Given the description of an element on the screen output the (x, y) to click on. 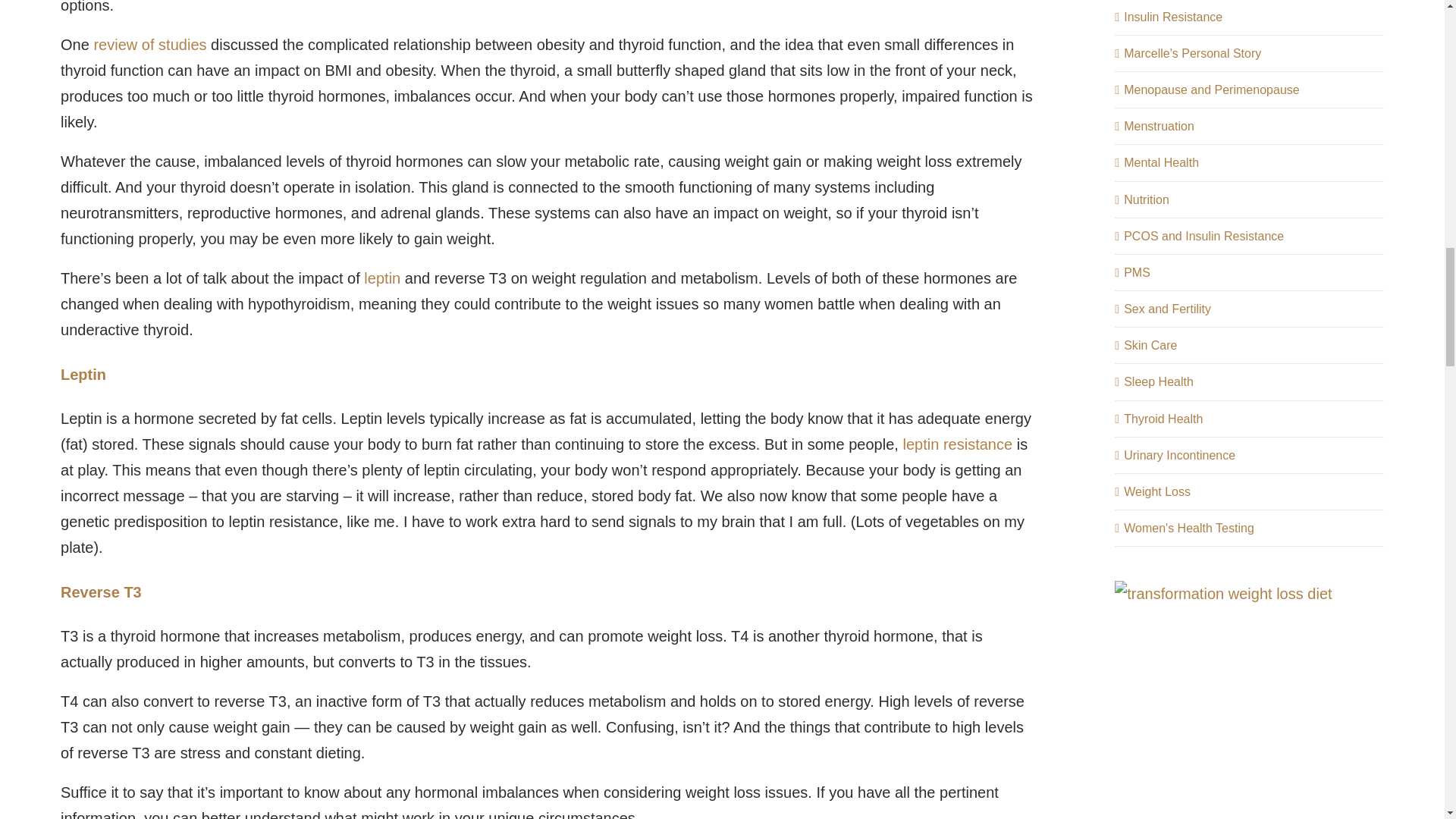
leptin resistance (956, 443)
leptin (382, 278)
review of studies (149, 44)
